Given the description of an element on the screen output the (x, y) to click on. 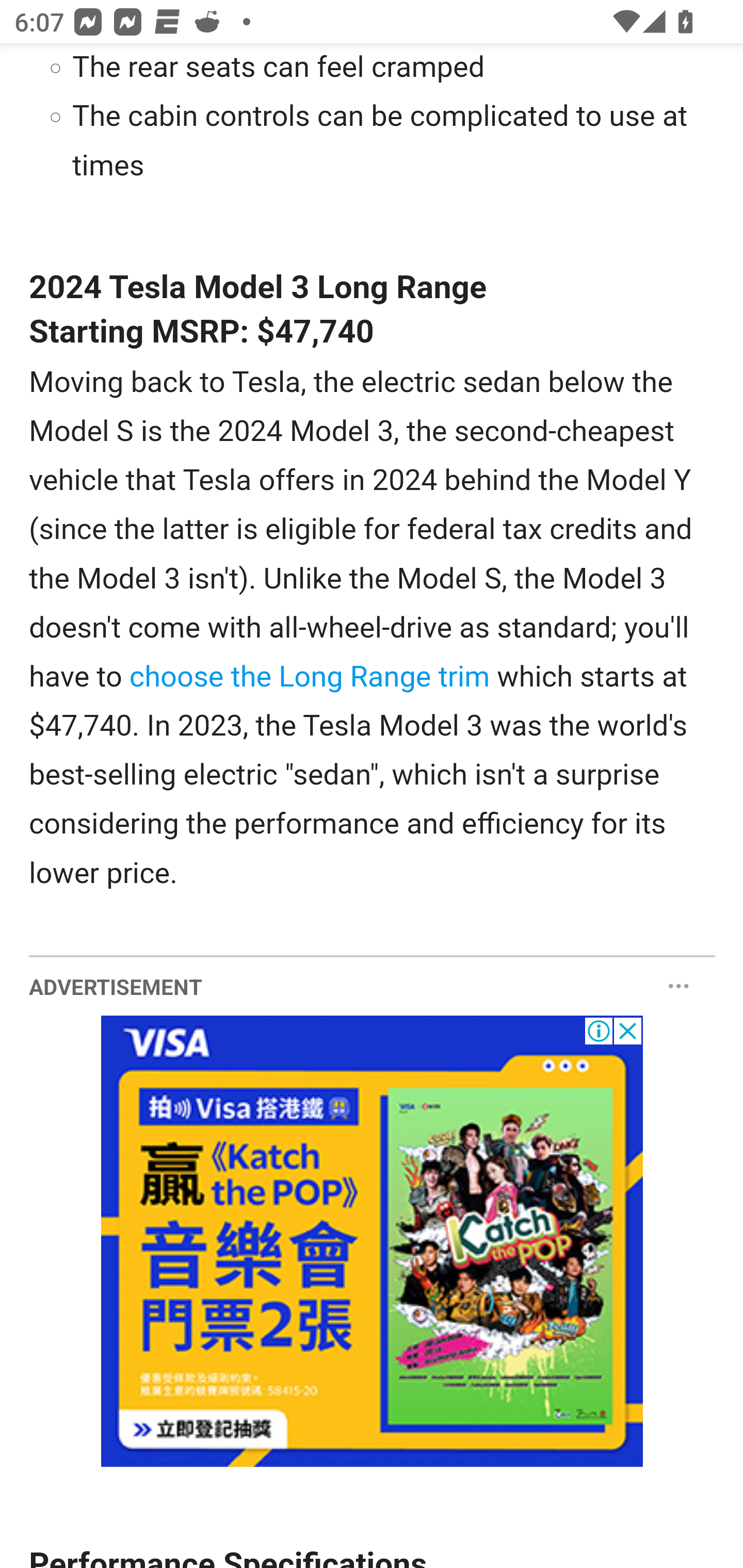
choose the Long Range trim (309, 676)
